Given the description of an element on the screen output the (x, y) to click on. 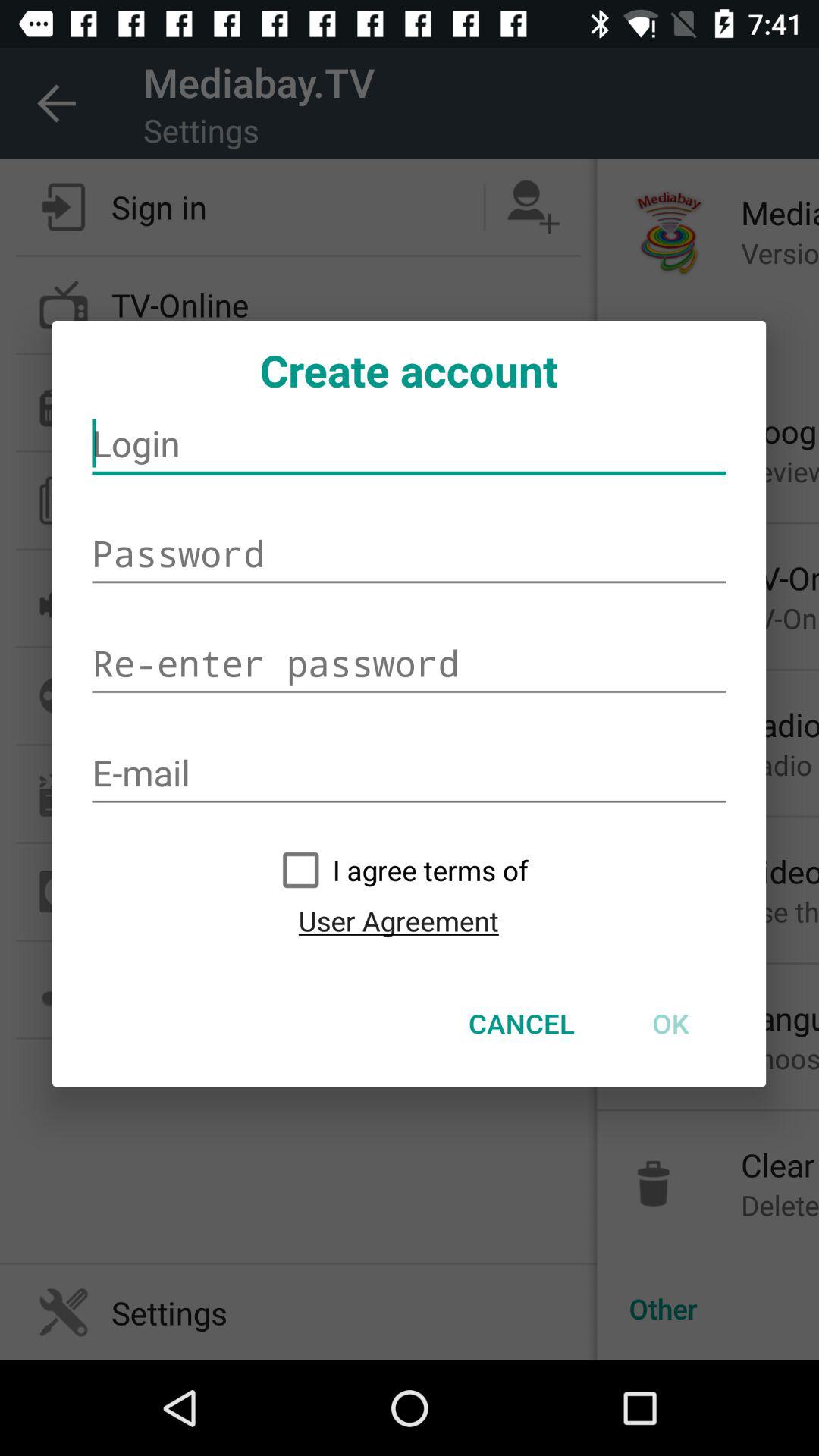
launch the i agree terms (398, 870)
